Given the description of an element on the screen output the (x, y) to click on. 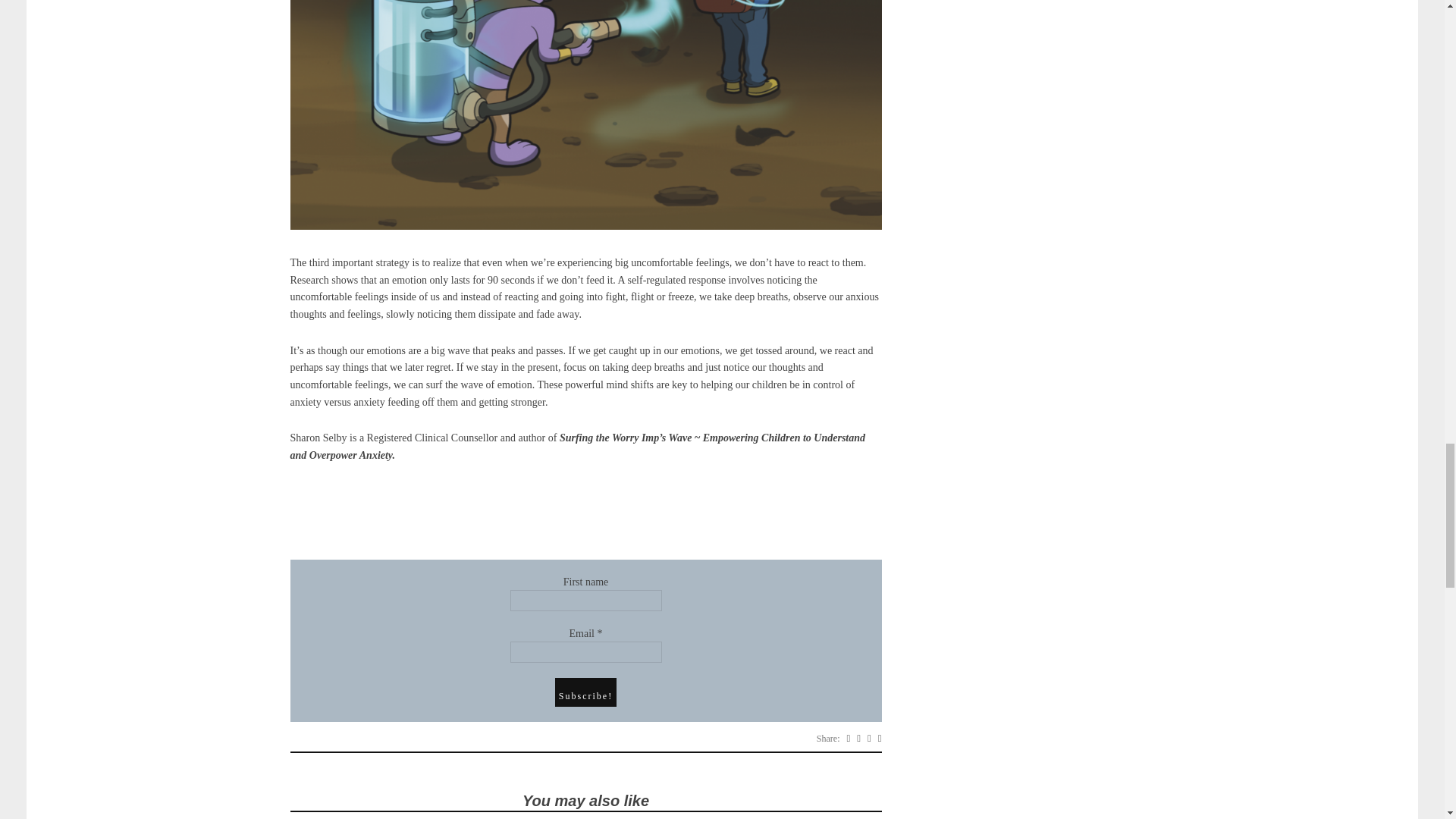
Email (585, 651)
Subscribe! (584, 692)
First name (585, 599)
